Given the description of an element on the screen output the (x, y) to click on. 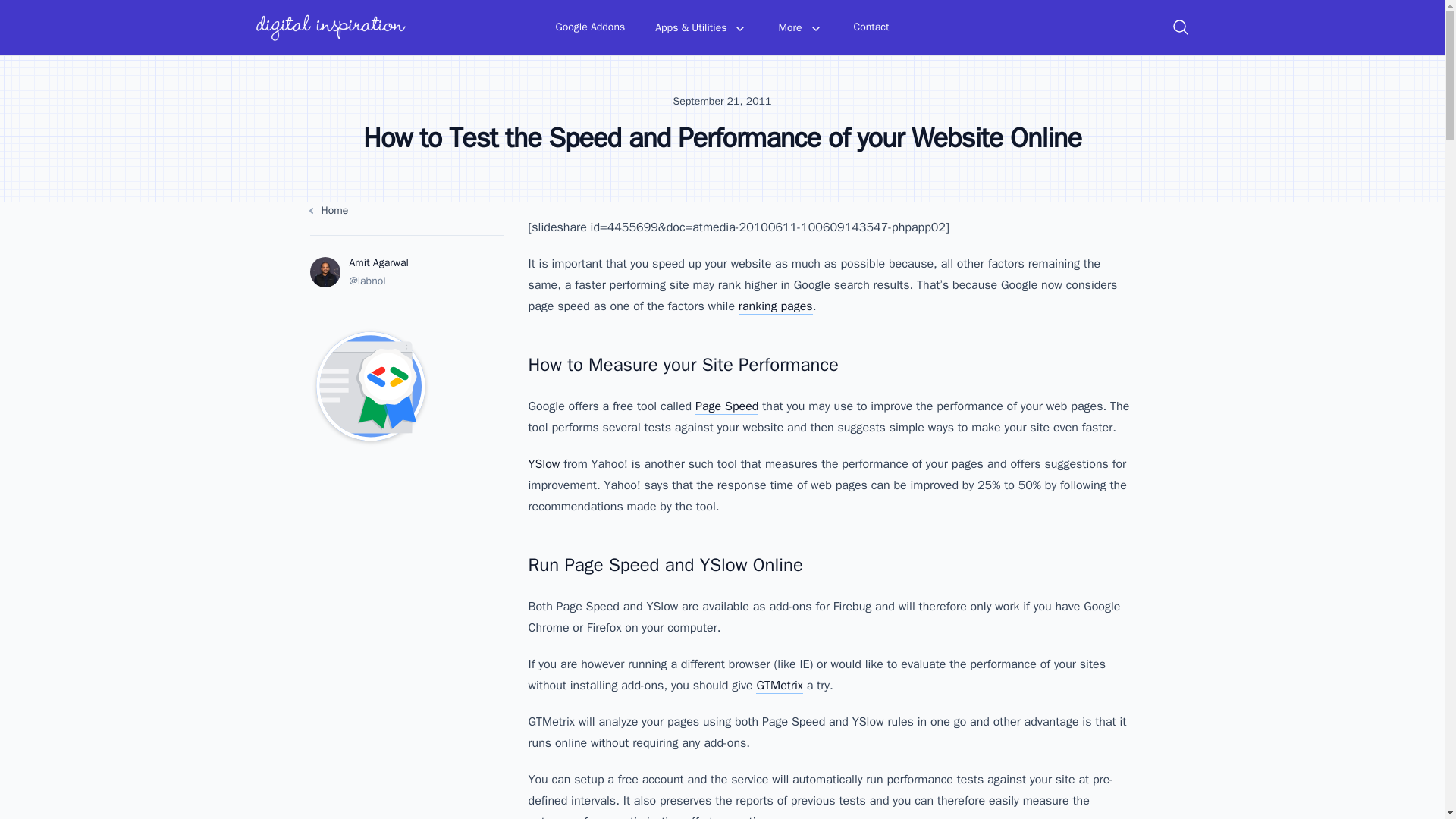
Google Developer Expert (405, 386)
Page Speed (726, 406)
Amit Agarwal (378, 262)
Digital Inspiration (330, 27)
ranking pages (775, 306)
YSlow (543, 464)
More (799, 28)
Google Addons (591, 27)
Contact (871, 27)
Home (405, 210)
